Given the description of an element on the screen output the (x, y) to click on. 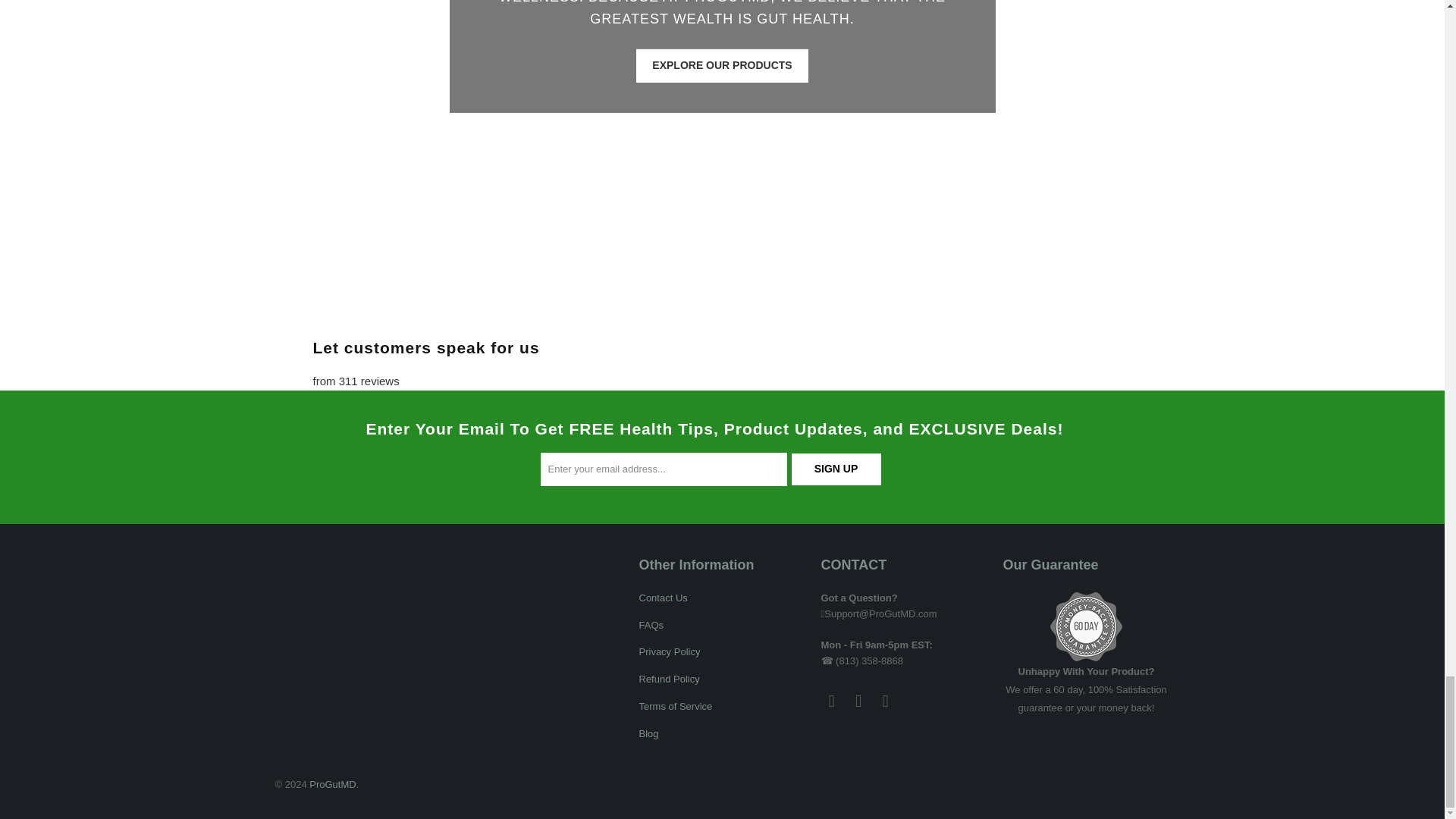
Email ProGutMD (885, 701)
Sign Up (835, 469)
ProGutMD on Facebook (832, 701)
ProGutMD on Instagram (858, 701)
